Given the description of an element on the screen output the (x, y) to click on. 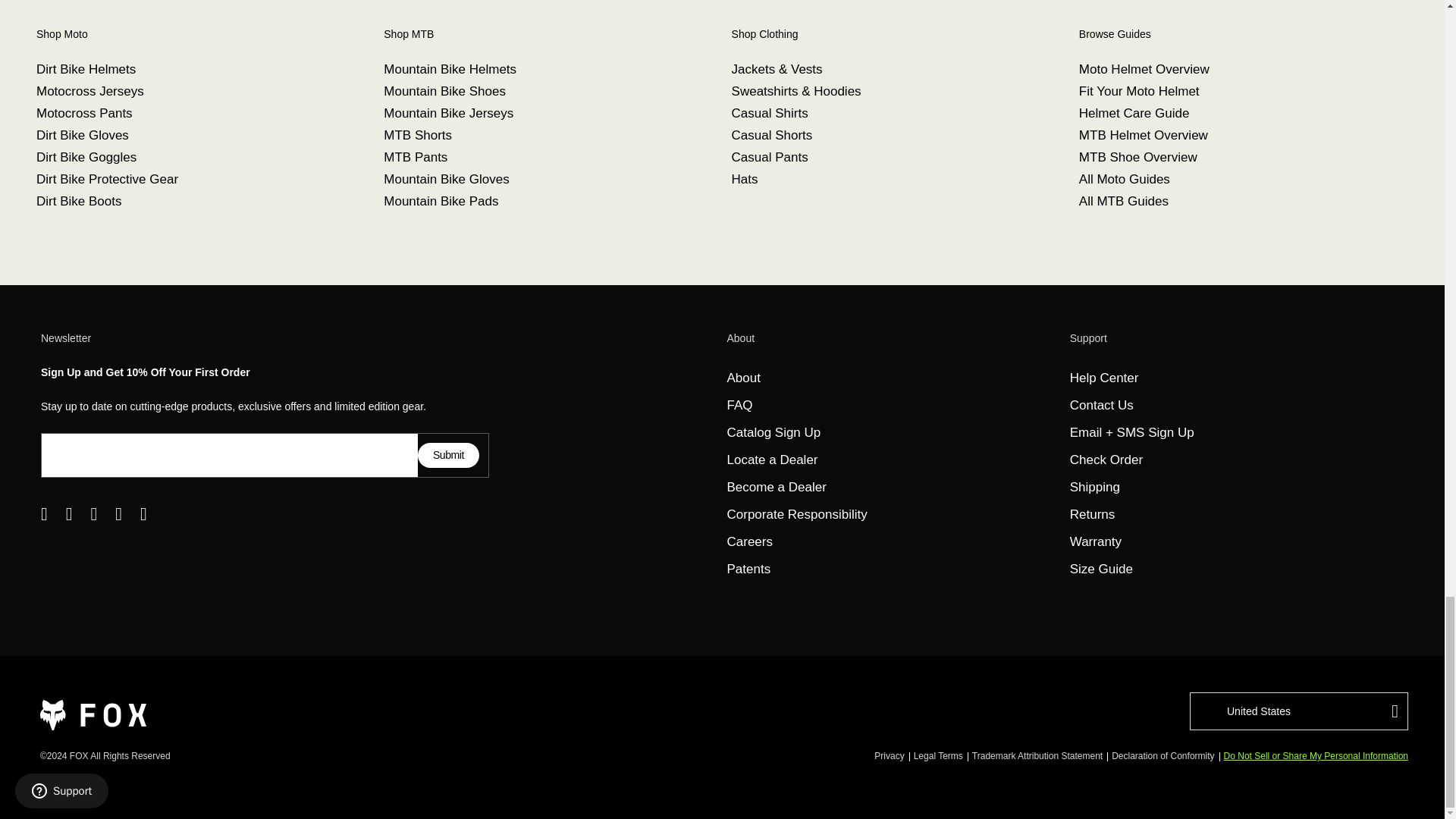
Dirt Bike Goggles (86, 156)
Dirt Bike Protective Gear (106, 178)
Dirt Bike Boots (78, 201)
Motocross Jerseys (90, 91)
MTB Pants (415, 156)
Mountain Bike Pads (440, 201)
Mountain Bike Helmets (450, 69)
Motocross Pants (84, 113)
Dirt Bike Helmets (85, 69)
Mountain Bike Gloves (446, 178)
Mountain Bike Jerseys (448, 113)
MTB Shorts (417, 134)
Mountain Bike Shoes (444, 91)
Dirt Bike Gloves (82, 134)
Shop Moto (196, 33)
